Given the description of an element on the screen output the (x, y) to click on. 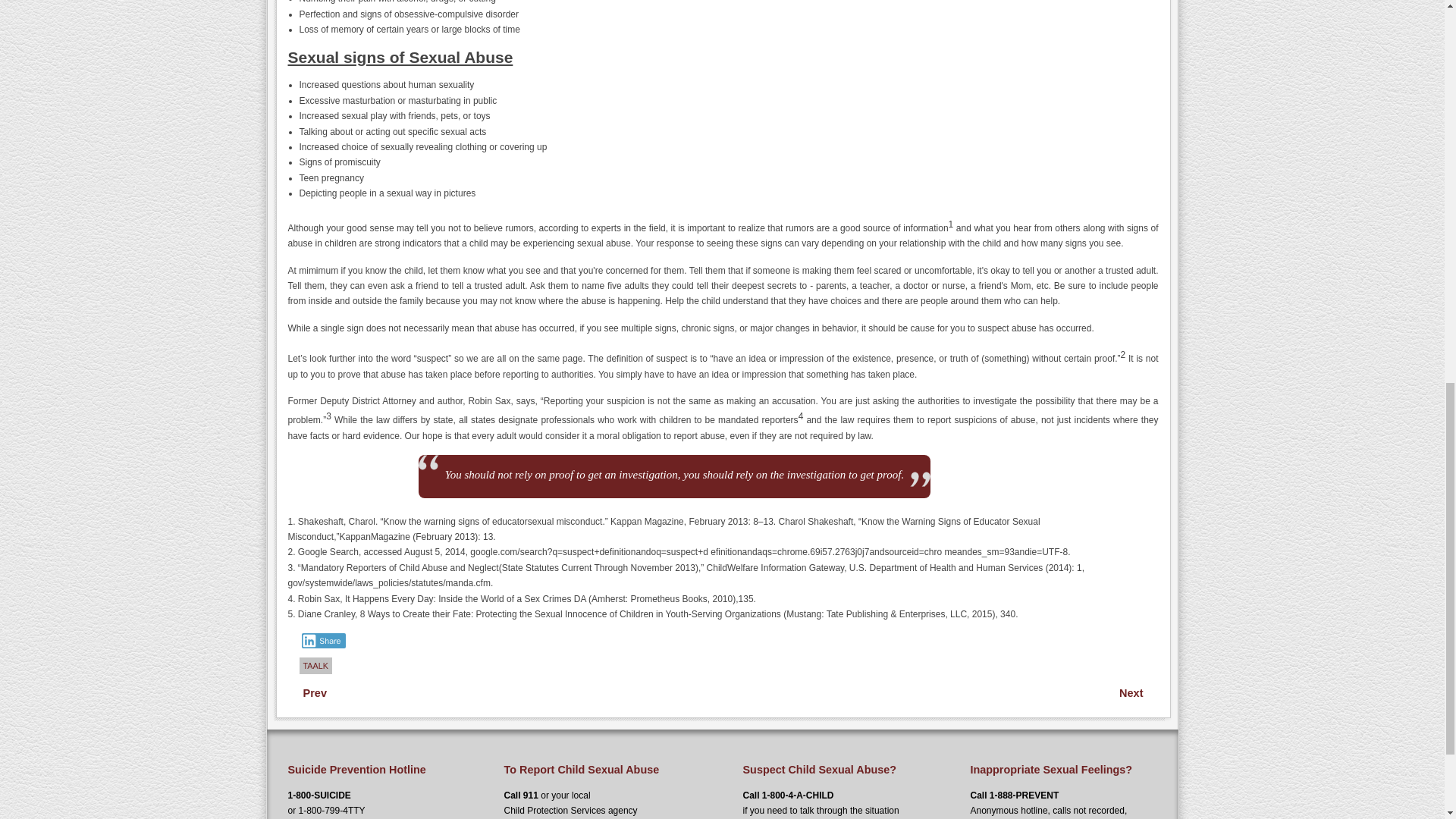
Share (323, 640)
Prev (315, 692)
Next (1130, 692)
TAALK (314, 665)
